Given the description of an element on the screen output the (x, y) to click on. 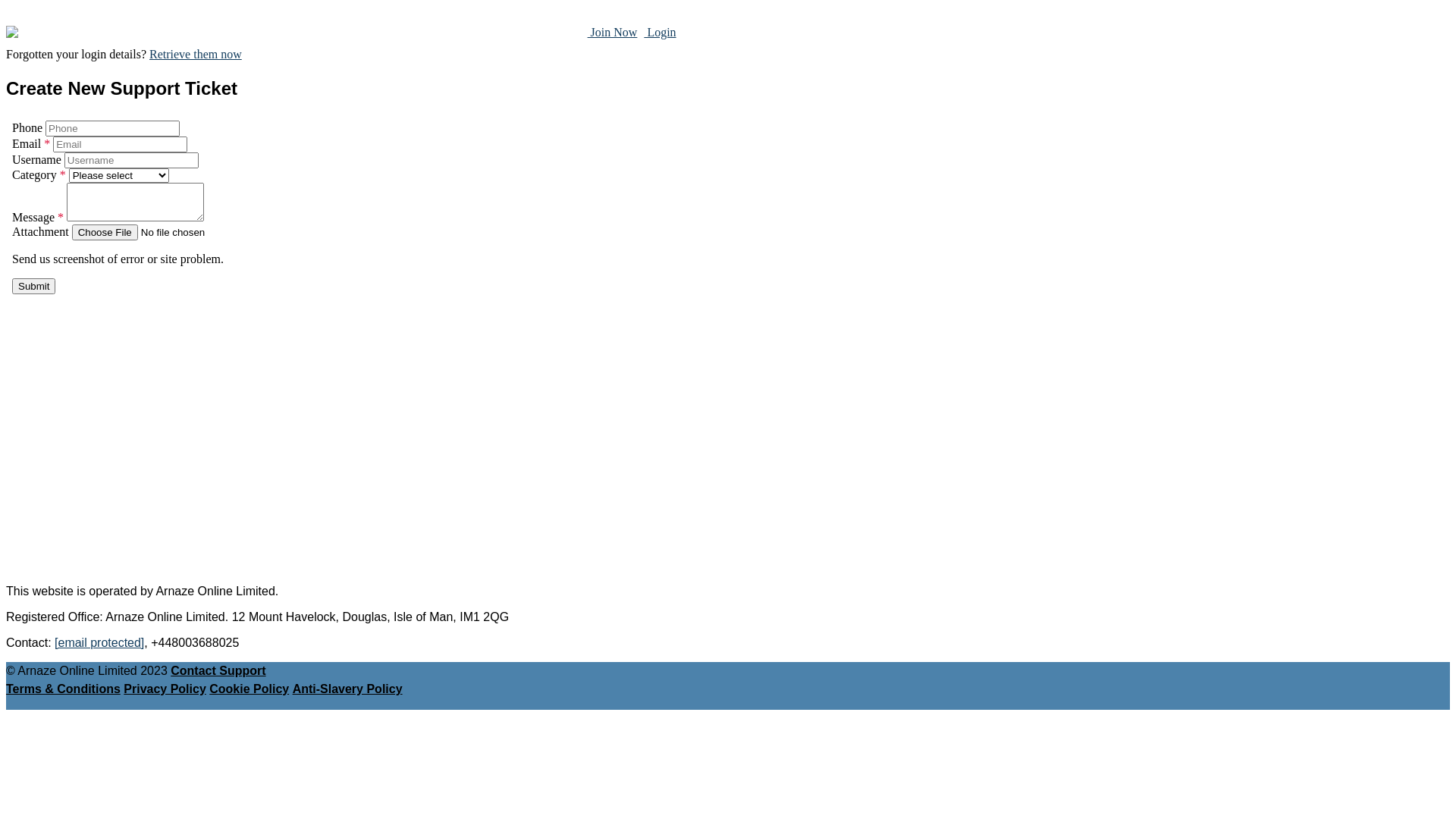
[email protected] Element type: text (99, 642)
Cookie Policy Element type: text (248, 688)
 Join Now Element type: text (612, 31)
 Login Element type: text (659, 31)
Privacy Policy Element type: text (164, 688)
Anti-Slavery Policy Element type: text (347, 688)
Retrieve them now Element type: text (195, 53)
Contact Support Element type: text (217, 670)
Terms & Conditions Element type: text (63, 688)
